Given the description of an element on the screen output the (x, y) to click on. 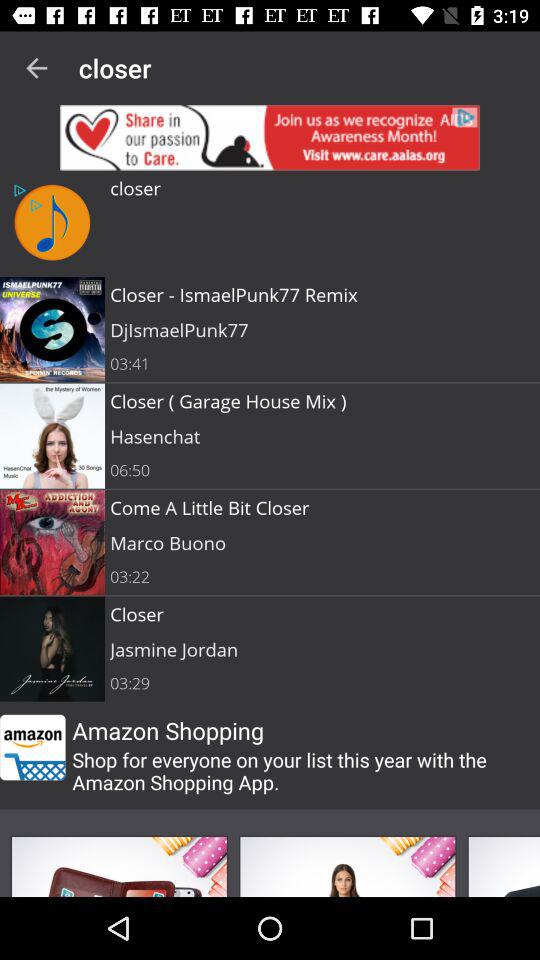
advertising pop up banner (347, 866)
